Given the description of an element on the screen output the (x, y) to click on. 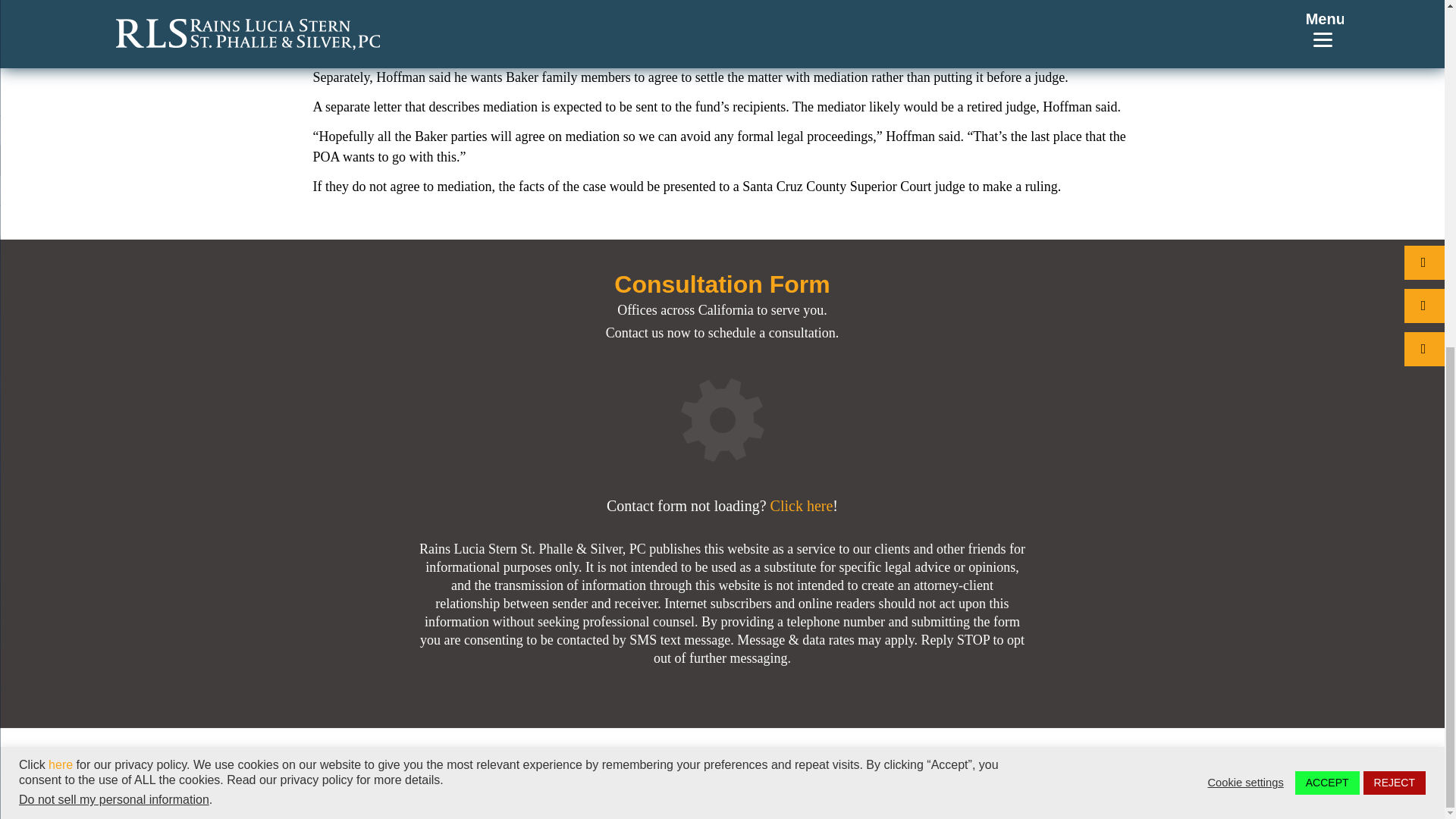
Do not sell my personal information (113, 202)
Disclaimer (1003, 768)
Privacy Policy (908, 768)
Contact form not loading? Click here! (722, 505)
ACCEPT (1327, 186)
Cookie settings (1246, 185)
here (60, 167)
